Given the description of an element on the screen output the (x, y) to click on. 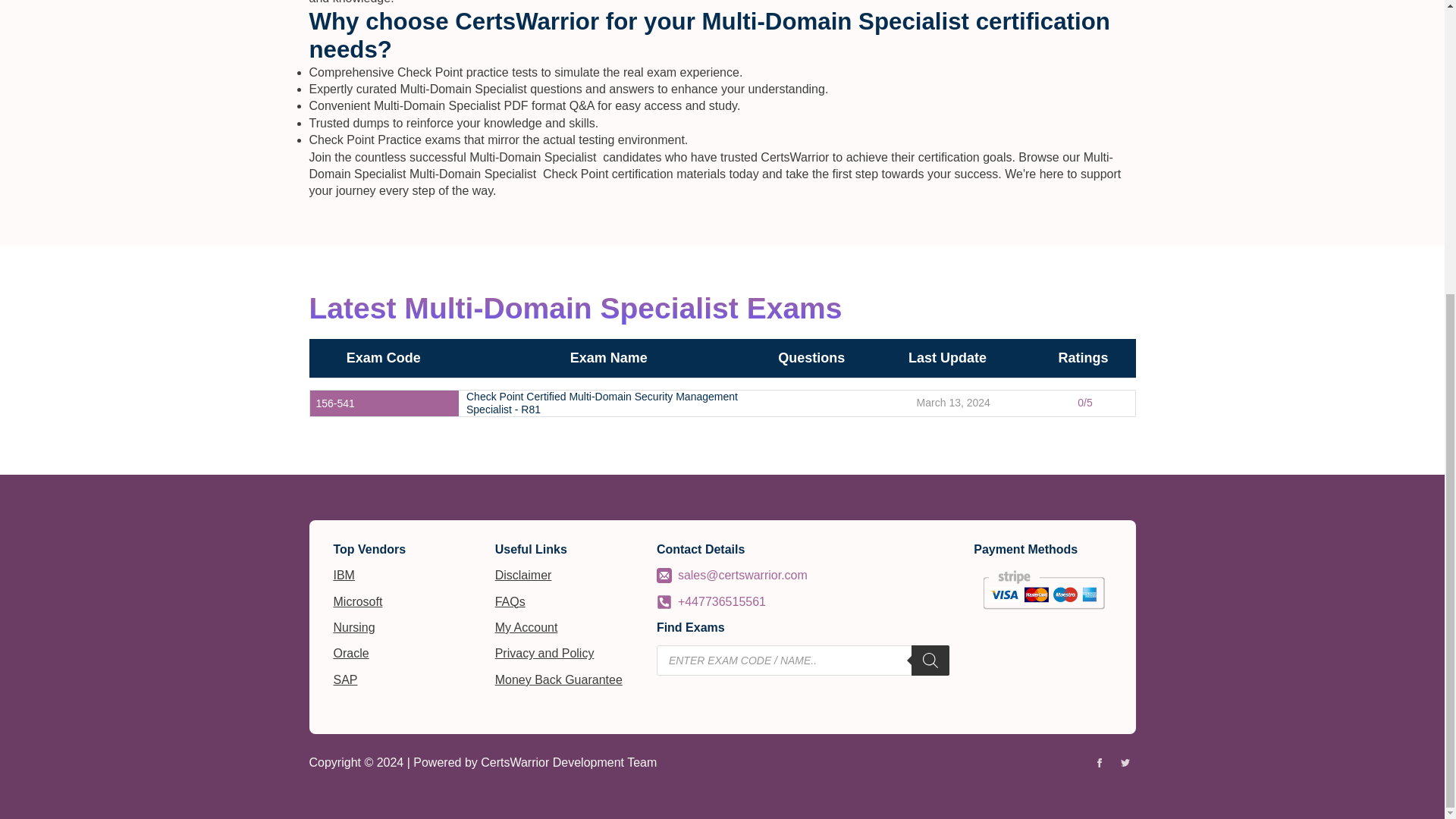
SAP (345, 679)
IBM (344, 575)
Oracle (351, 653)
Exam Code (383, 358)
Disclaimer (523, 575)
Microsoft (357, 601)
Nursing (354, 627)
156-541 (334, 403)
